Given the description of an element on the screen output the (x, y) to click on. 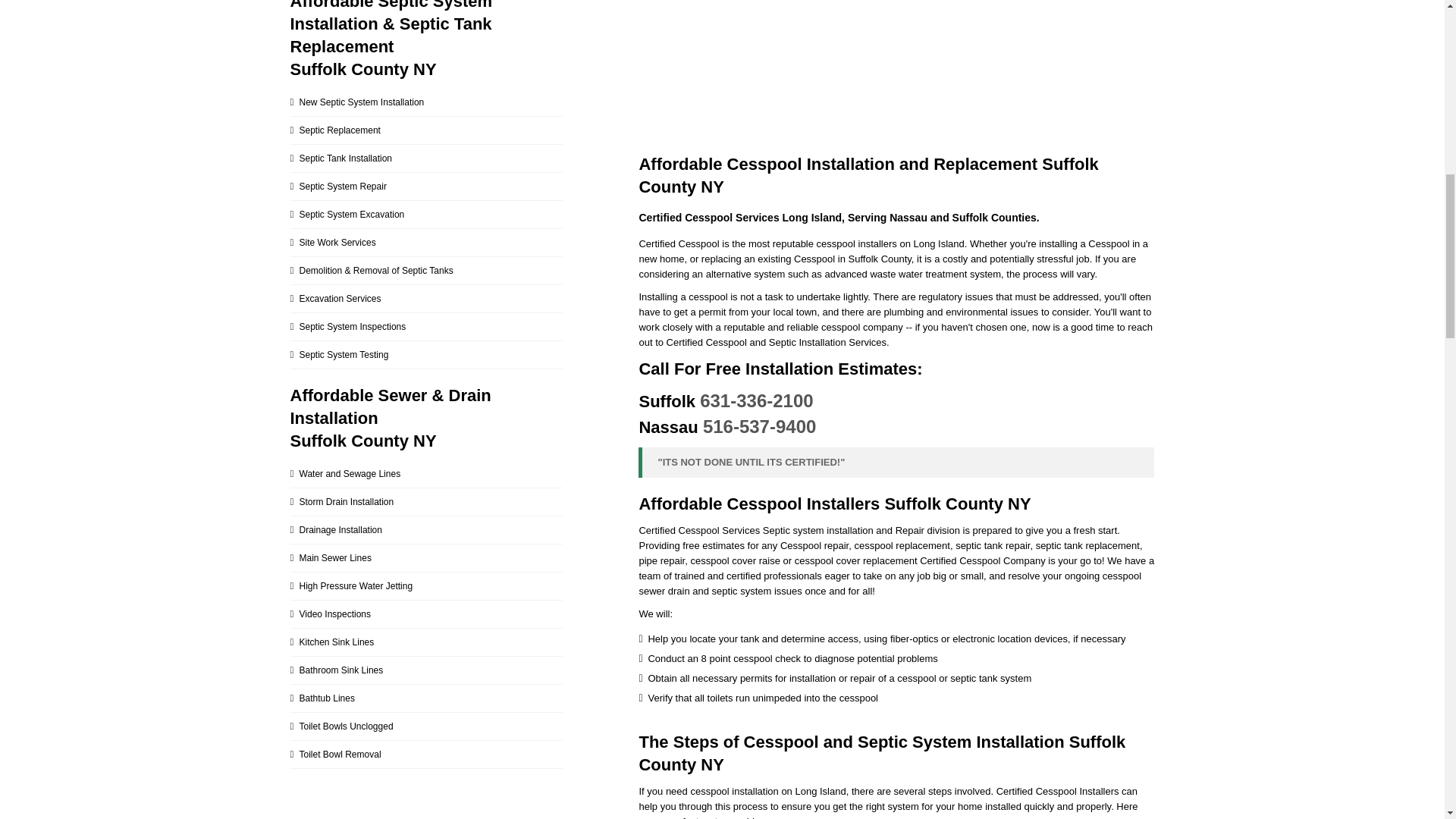
631-336-2100 (756, 400)
516-537-9400 (759, 426)
